Given the description of an element on the screen output the (x, y) to click on. 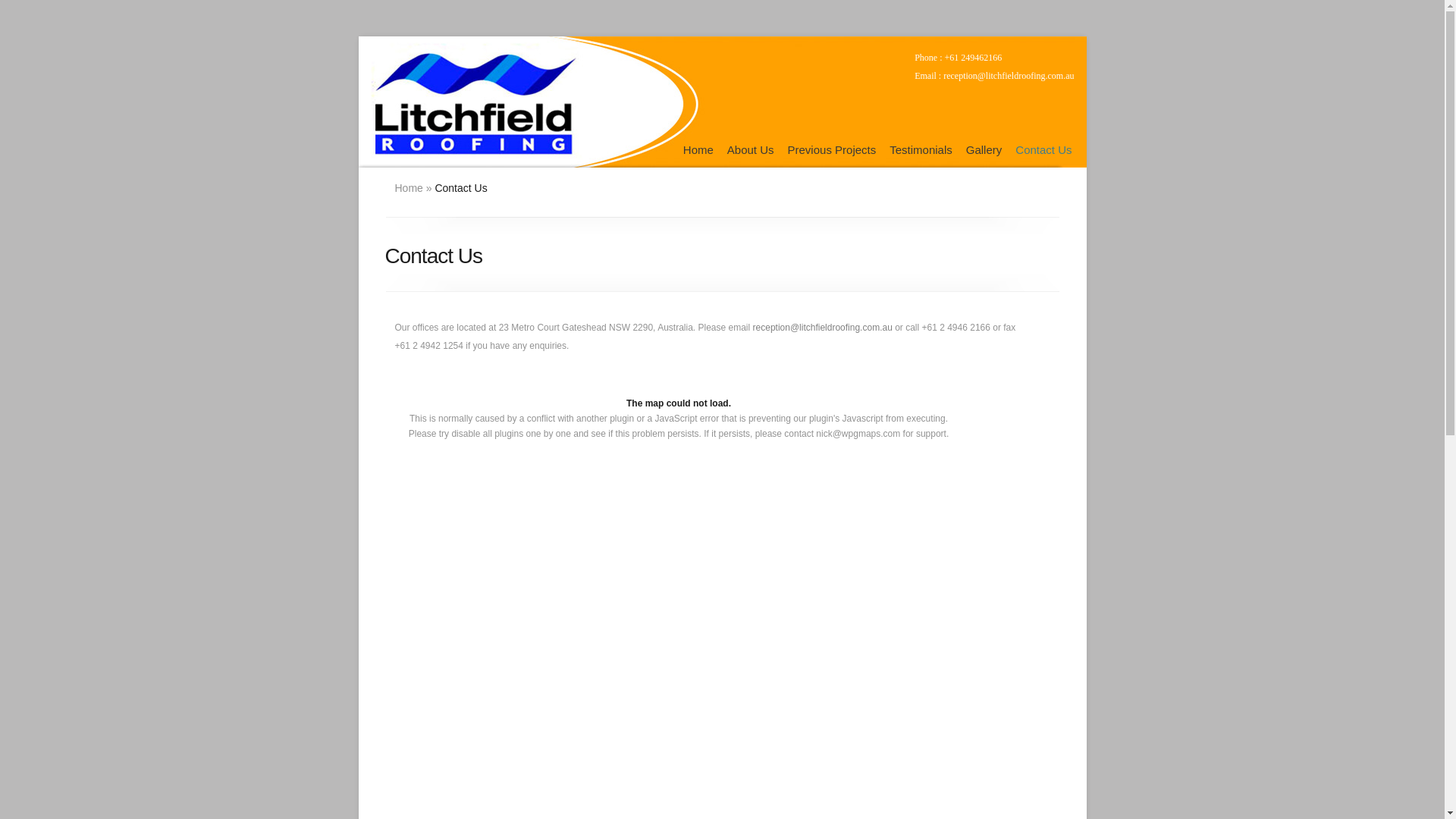
reception@litchfieldroofing.com.au Element type: text (822, 327)
Home Element type: text (698, 149)
Contact Us Element type: text (1043, 149)
Previous Projects Element type: text (831, 149)
Testimonials Element type: text (920, 149)
reception@litchfieldroofing.com.au Element type: text (1008, 75)
Gallery Element type: text (984, 149)
Home Element type: text (408, 188)
About Us Element type: text (750, 149)
